Given the description of an element on the screen output the (x, y) to click on. 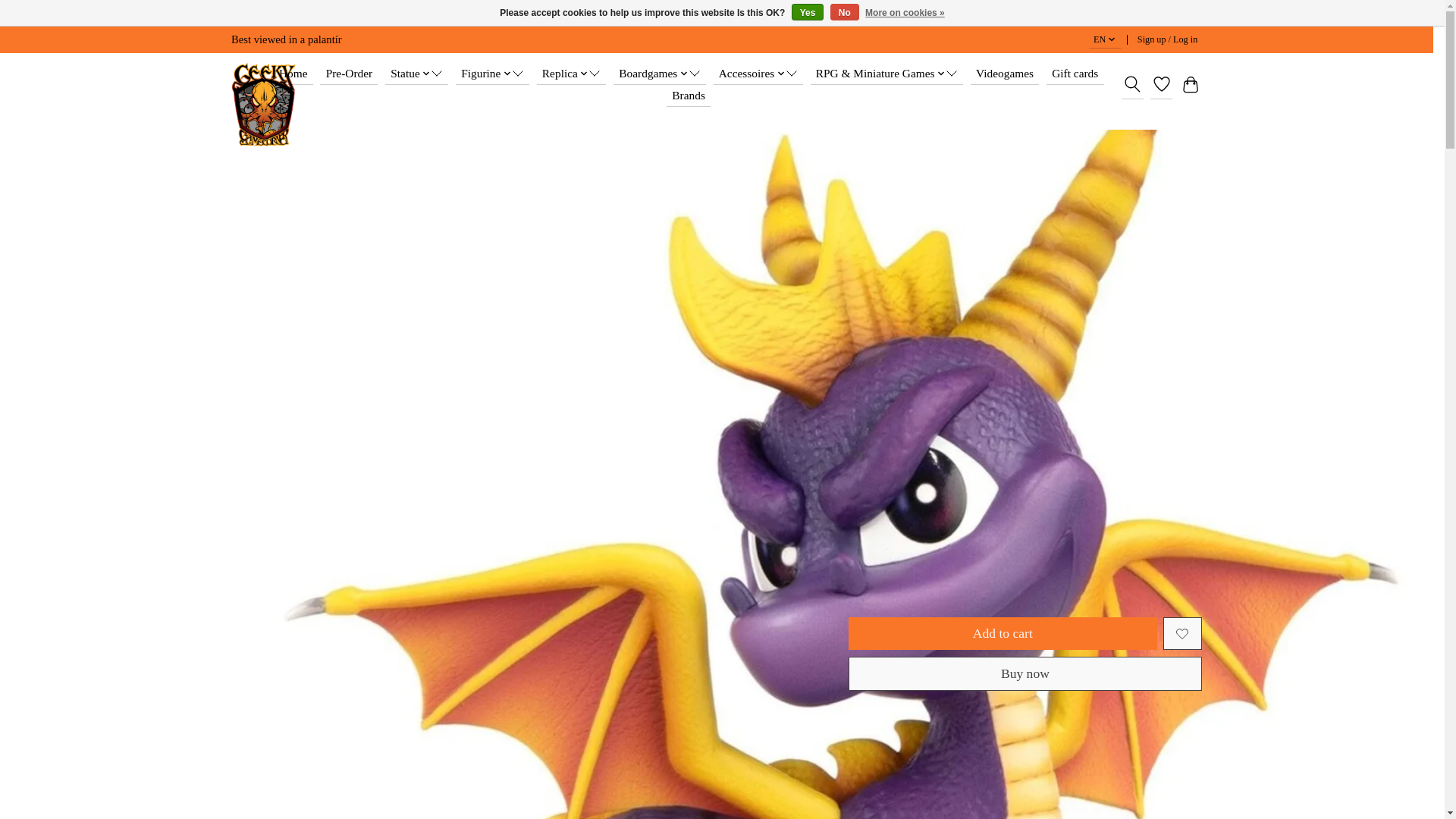
My account (1167, 39)
Home (293, 73)
1 (937, 581)
Statue (416, 73)
Pre-Order (348, 73)
EN (1105, 39)
